Given the description of an element on the screen output the (x, y) to click on. 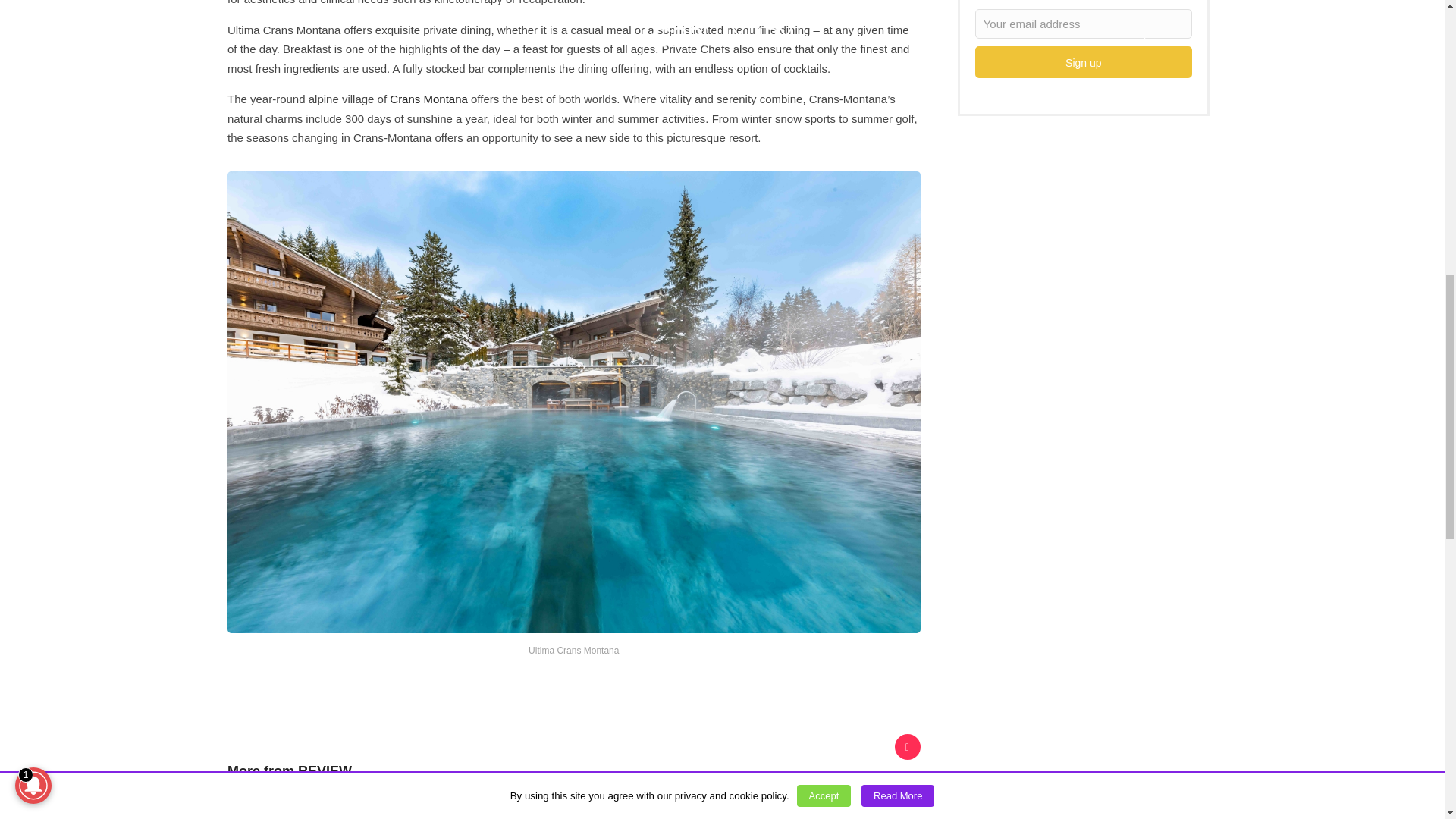
Crans Montana (428, 98)
Sign up (1083, 61)
